Given the description of an element on the screen output the (x, y) to click on. 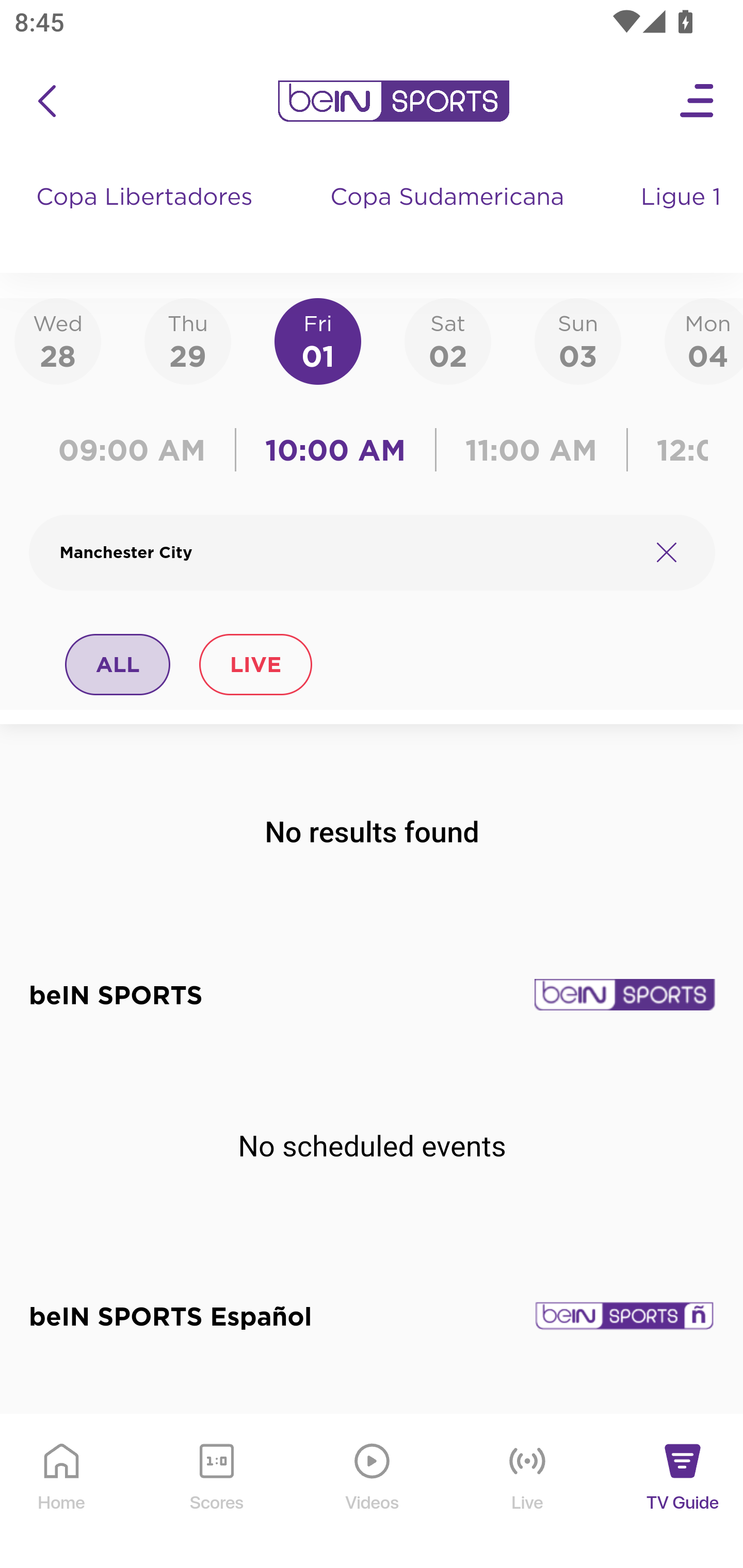
en-us?platform=mobile_android bein logo (392, 101)
icon back (46, 101)
Open Menu Icon (697, 101)
Copa Libertadores (146, 216)
Copa Sudamericana (448, 216)
Ligue 1 (682, 216)
Wed28 (58, 340)
Thu29 (187, 340)
Fri01 (318, 340)
Sat02 (447, 340)
Sun03 (578, 340)
Mon04 (703, 340)
09:00 AM (136, 449)
10:00 AM (335, 449)
11:00 AM (531, 449)
Manchester City (346, 552)
ALL (118, 663)
LIVE (255, 663)
Home Home Icon Home (61, 1491)
Scores Scores Icon Scores (216, 1491)
Videos Videos Icon Videos (372, 1491)
TV Guide TV Guide Icon TV Guide (682, 1491)
